Given the description of an element on the screen output the (x, y) to click on. 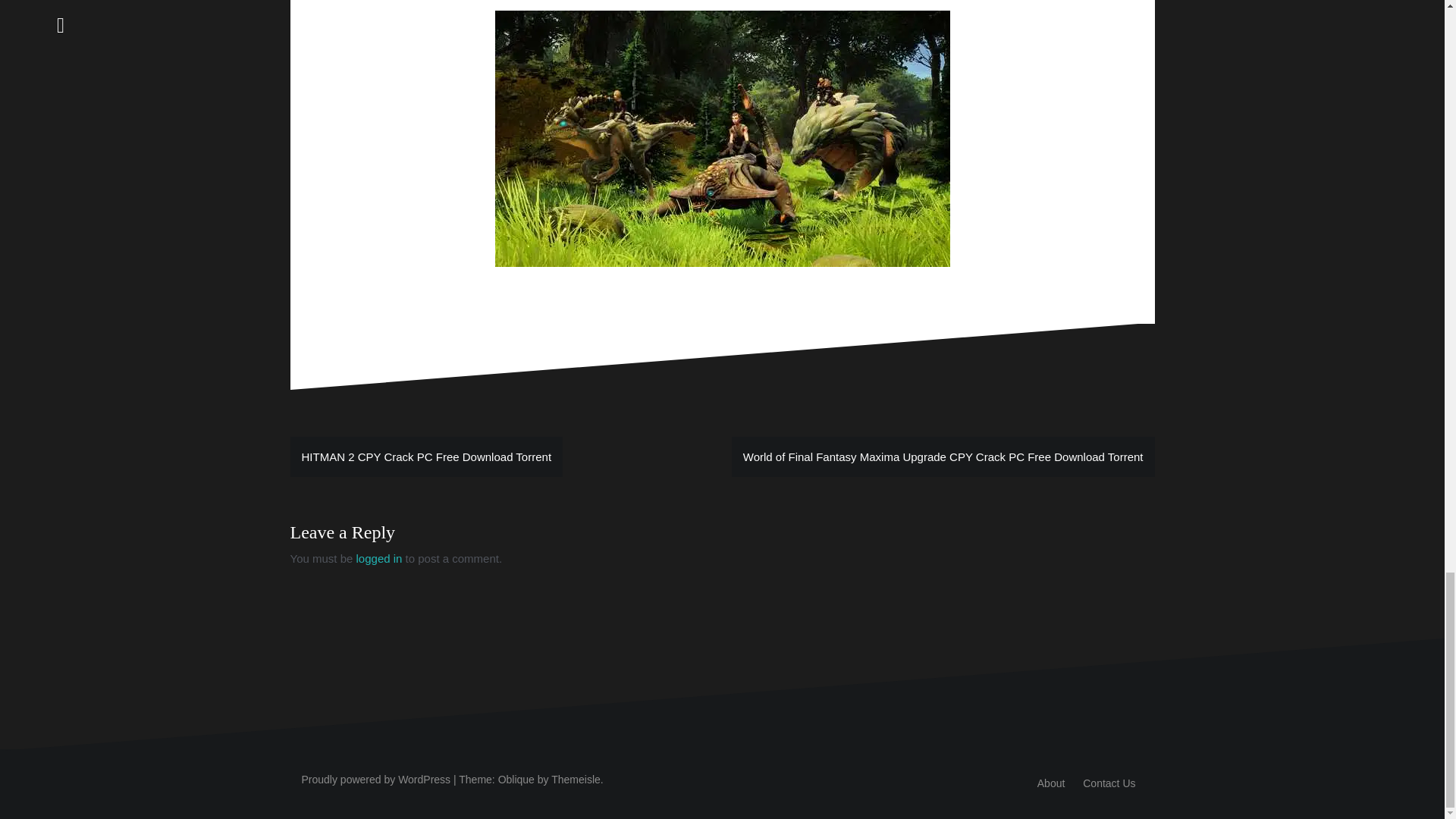
logged in (379, 558)
About (1050, 783)
Oblique (515, 779)
Contact Us (1109, 783)
HITMAN 2 CPY Crack PC Free Download Torrent (426, 456)
Proudly powered by WordPress (376, 779)
